Given the description of an element on the screen output the (x, y) to click on. 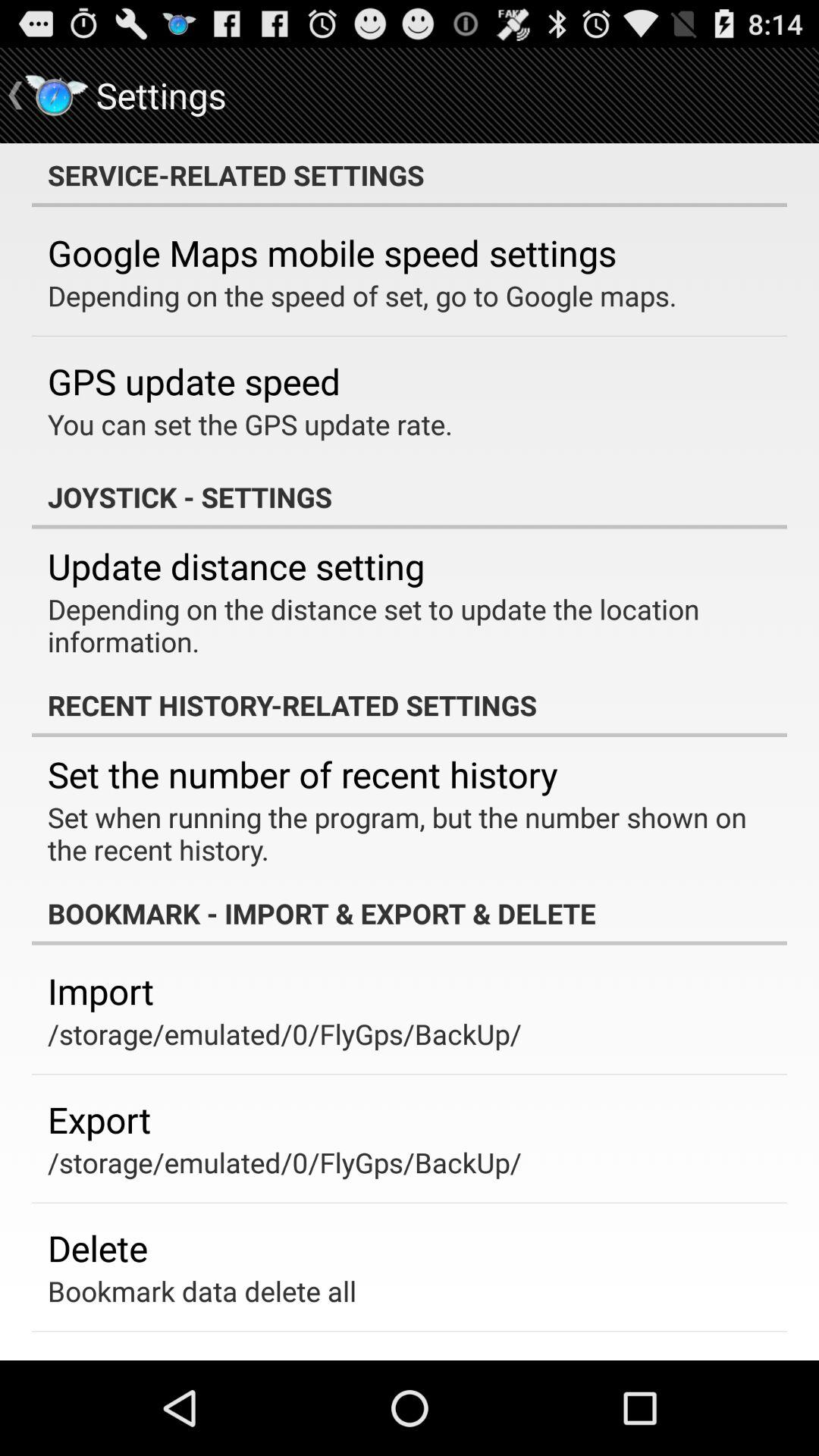
flip to the joystick - settings app (409, 496)
